Given the description of an element on the screen output the (x, y) to click on. 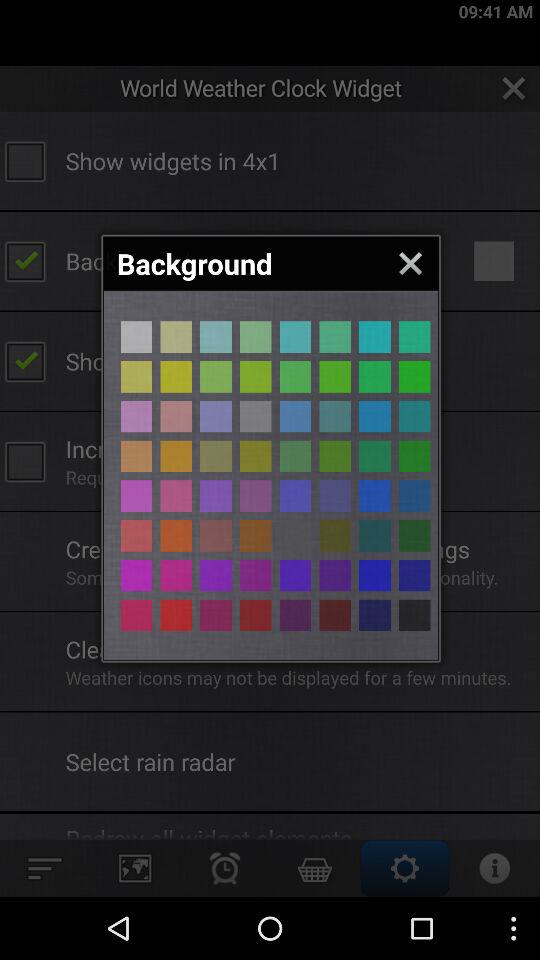
colour page (215, 615)
